Given the description of an element on the screen output the (x, y) to click on. 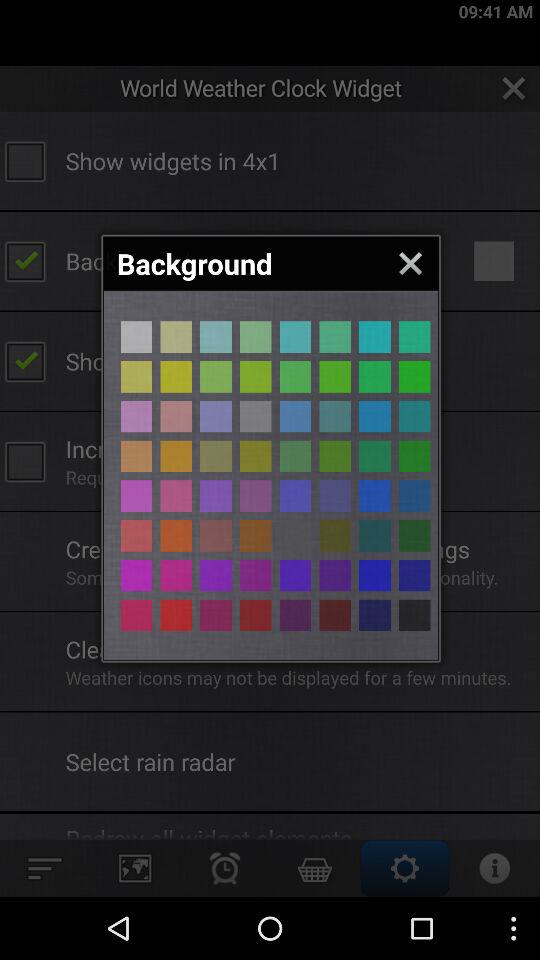
colour page (215, 615)
